Given the description of an element on the screen output the (x, y) to click on. 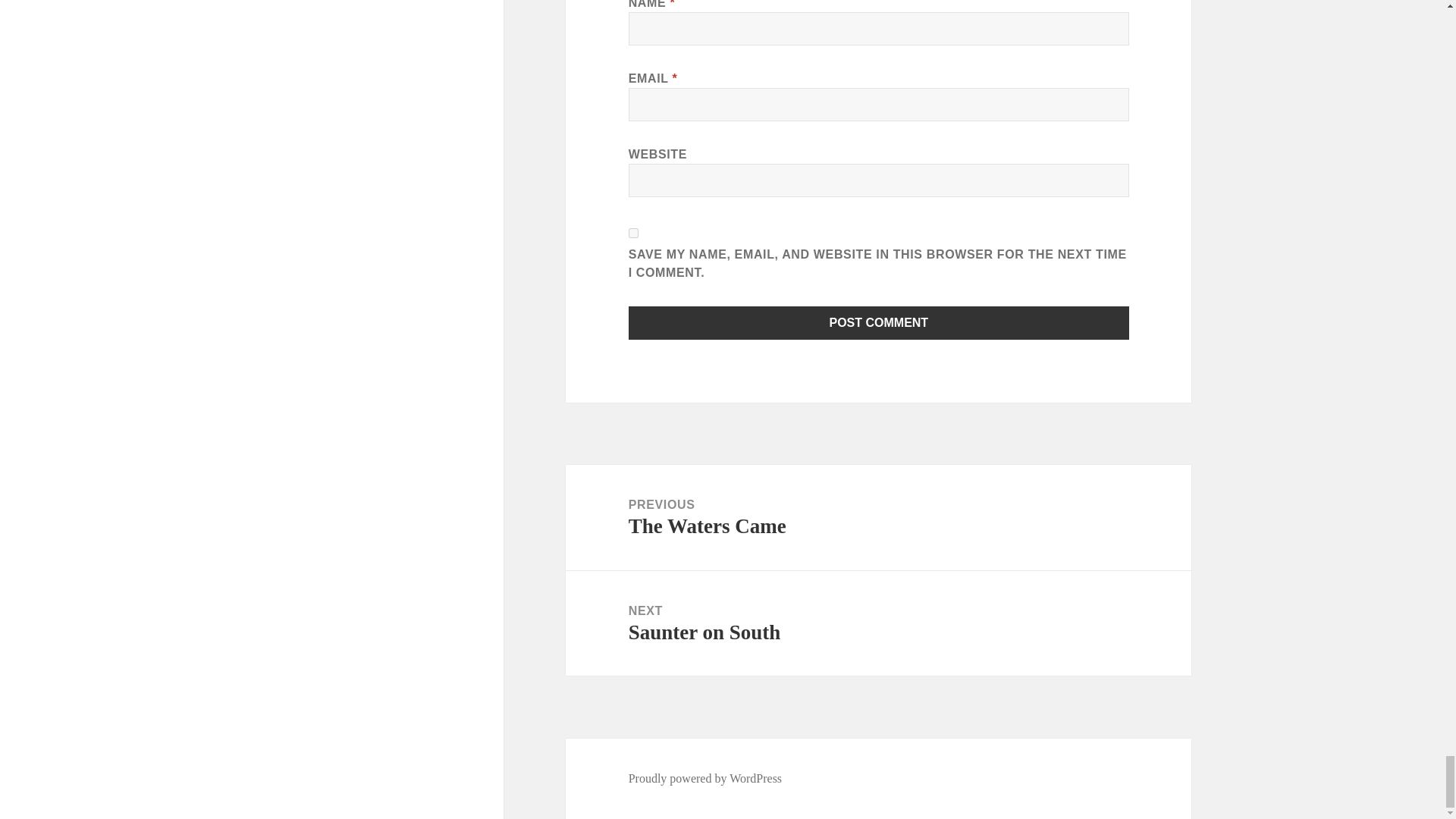
Post Comment (878, 322)
Post Comment (878, 322)
yes (878, 623)
Proudly powered by WordPress (633, 233)
